Given the description of an element on the screen output the (x, y) to click on. 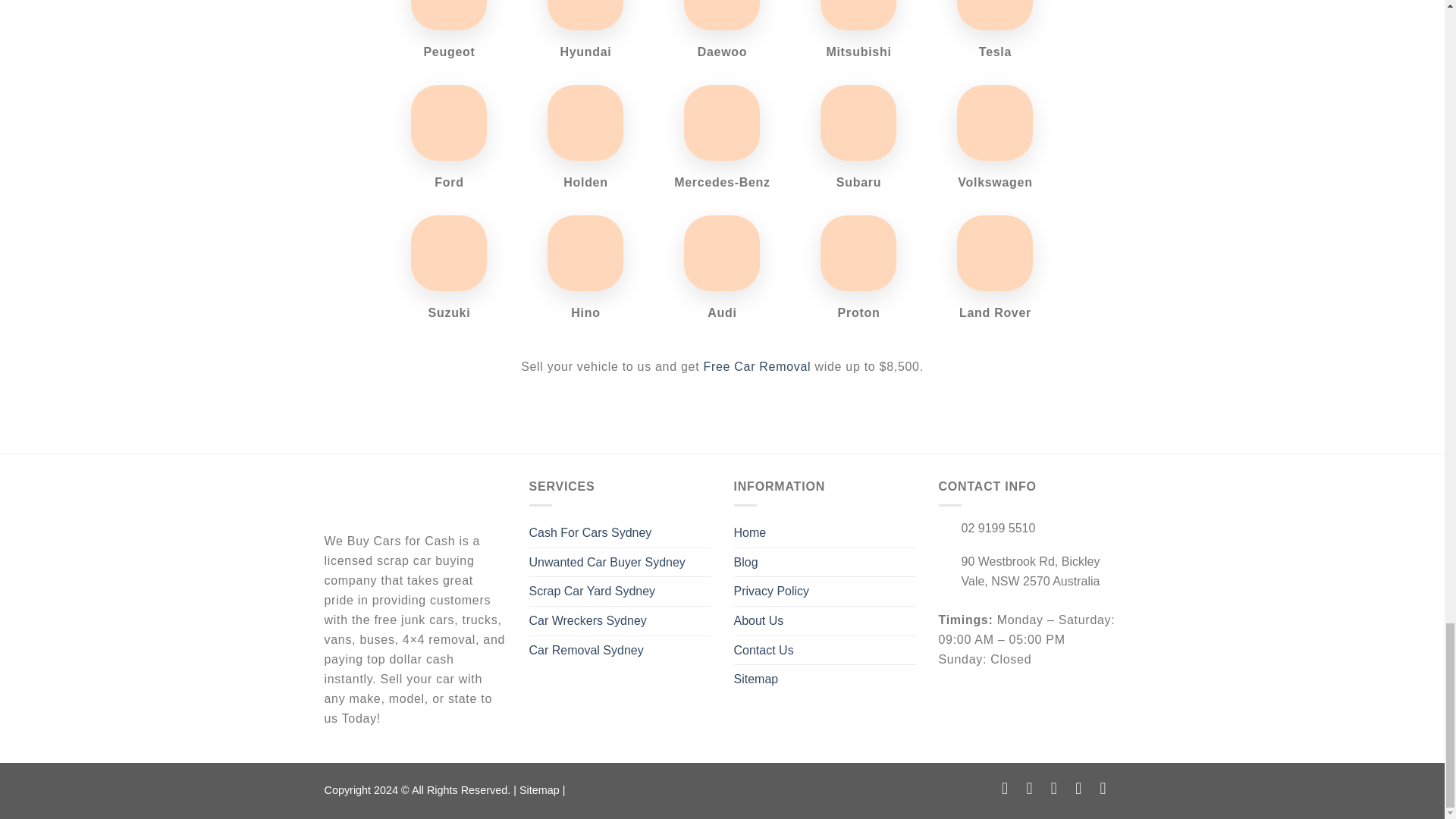
Free Car Removal (756, 366)
Unwanted Car Buyer Sydney (607, 562)
Cash For Cars Sydney (590, 532)
Car Wreckers Sydney (587, 620)
Scrap Car Yard Sydney (592, 591)
Car Removal Sydney (586, 650)
